Given the description of an element on the screen output the (x, y) to click on. 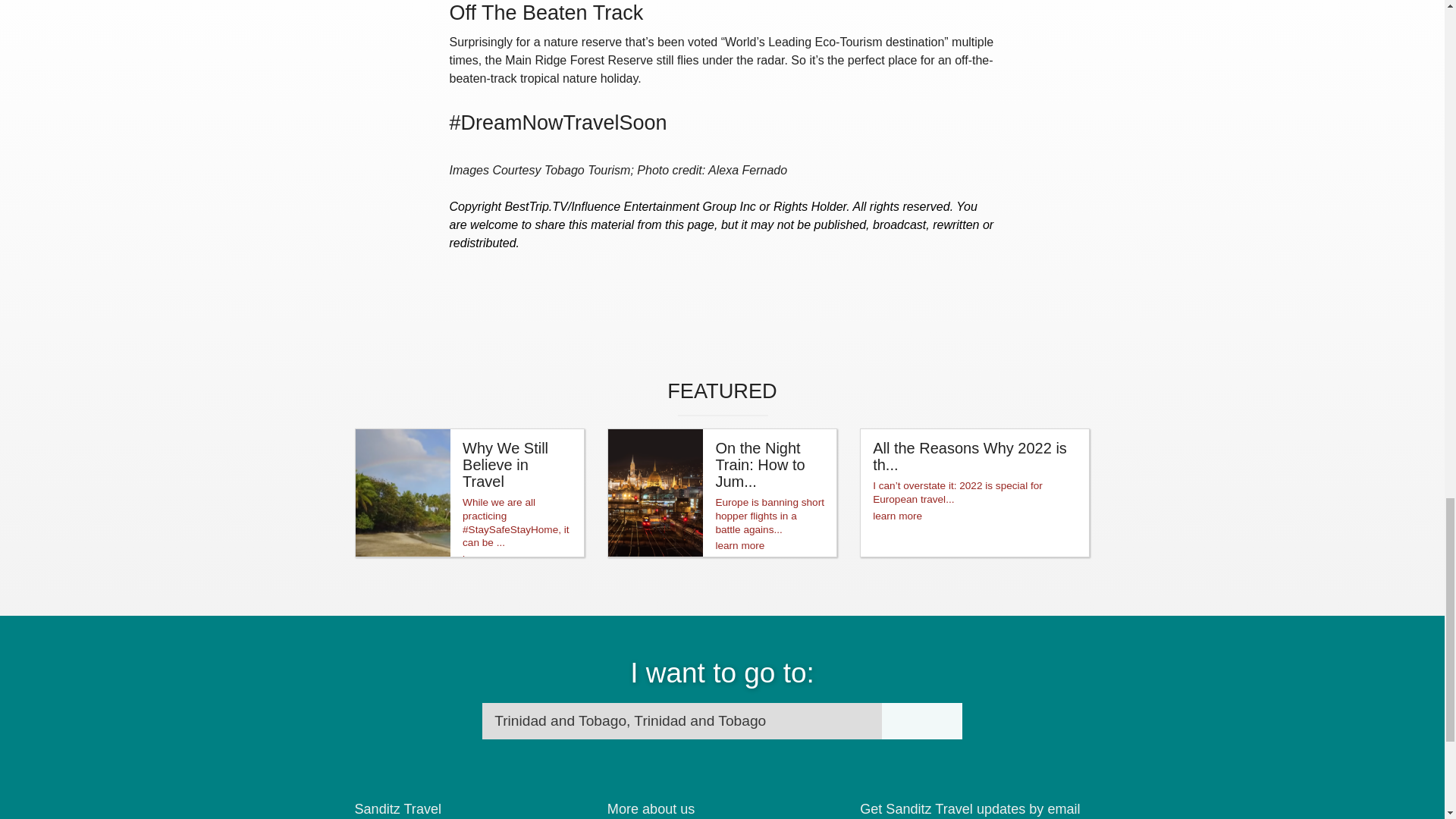
Trinidad and Tobago, Trinidad and Tobago (681, 720)
